Given the description of an element on the screen output the (x, y) to click on. 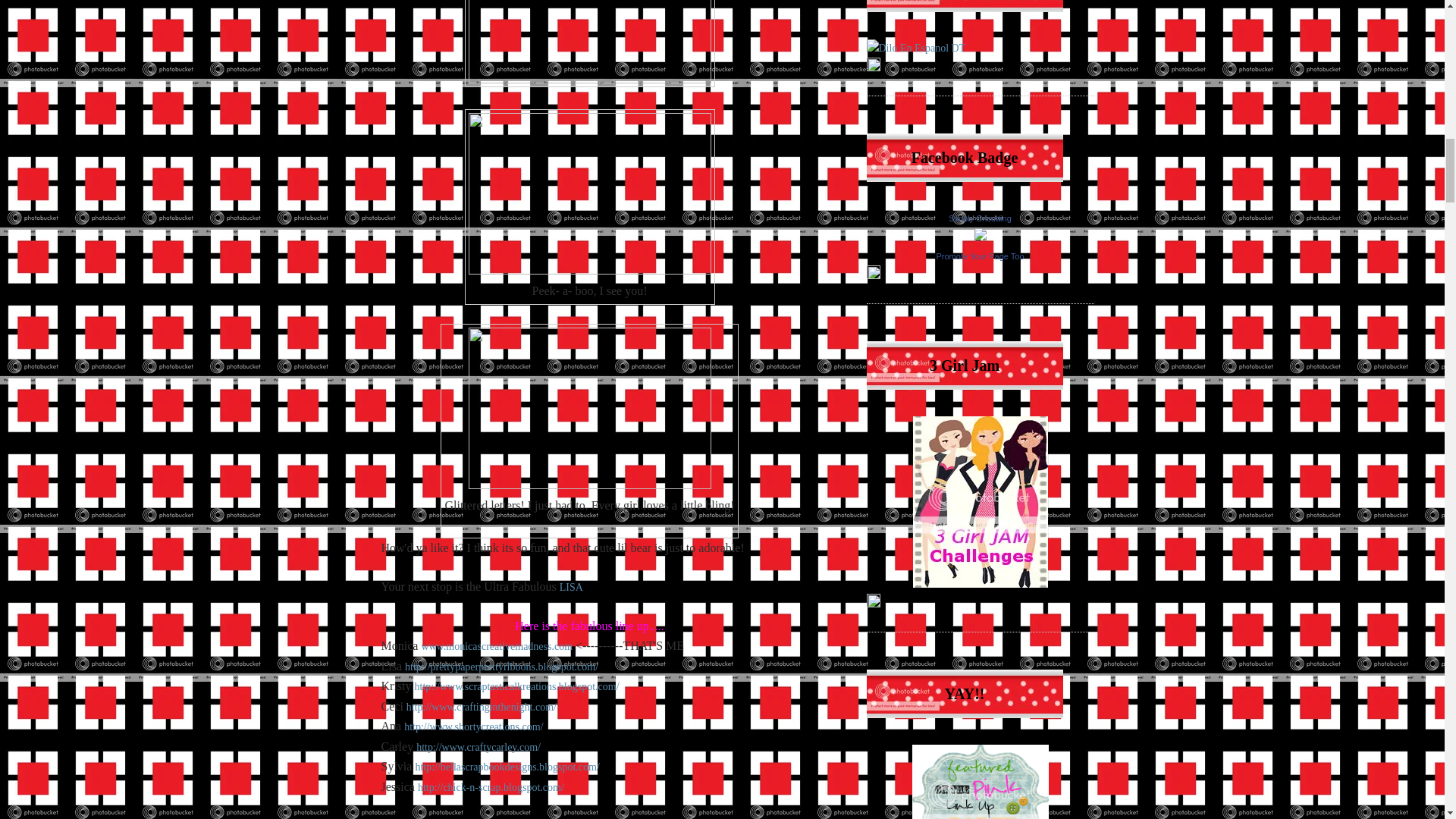
www.monicascreativemadness.com (496, 645)
LISA (571, 586)
